Given the description of an element on the screen output the (x, y) to click on. 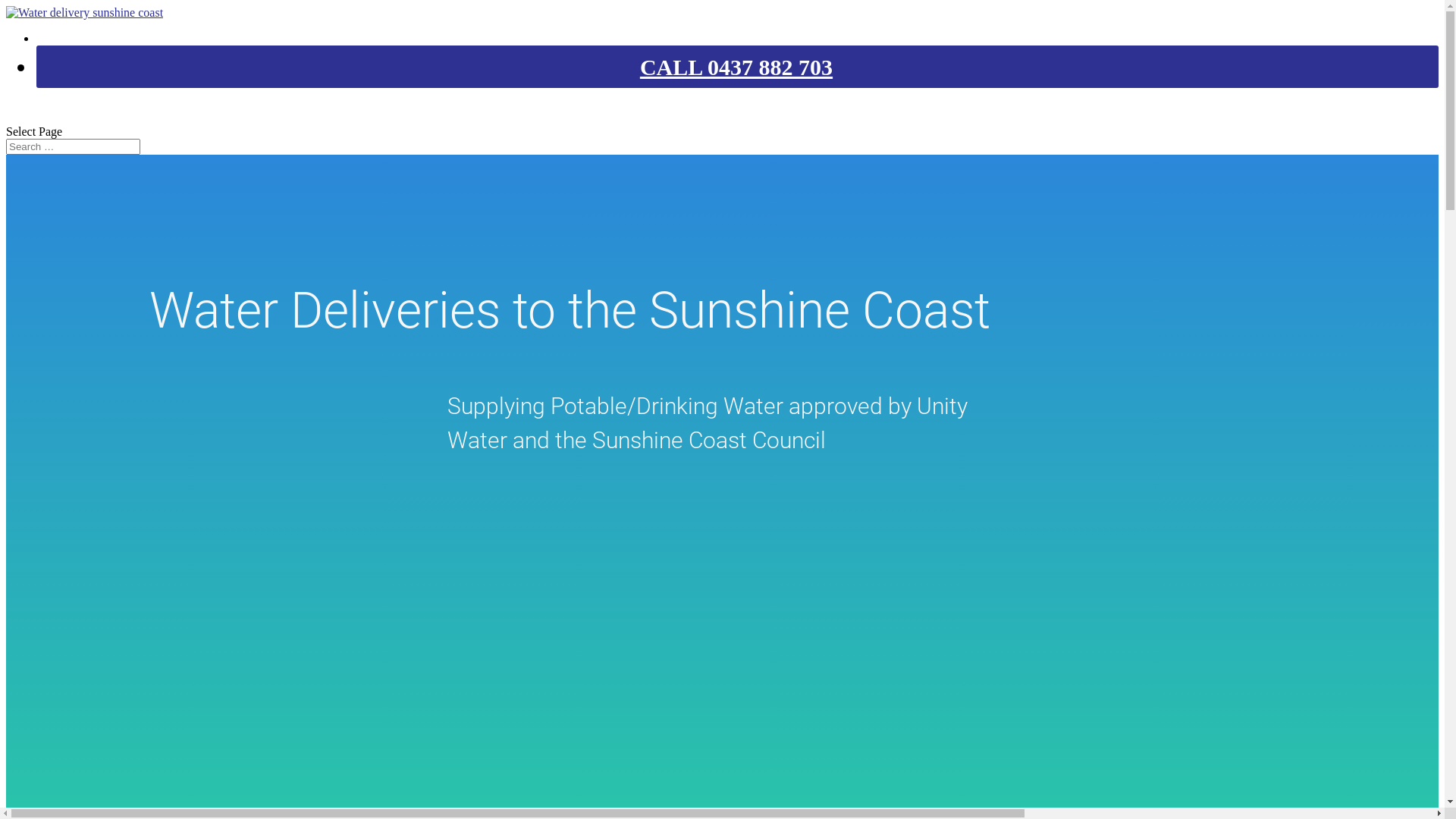
CALL 0437 882 703 Element type: text (736, 66)
Search for: Element type: hover (73, 146)
